Given the description of an element on the screen output the (x, y) to click on. 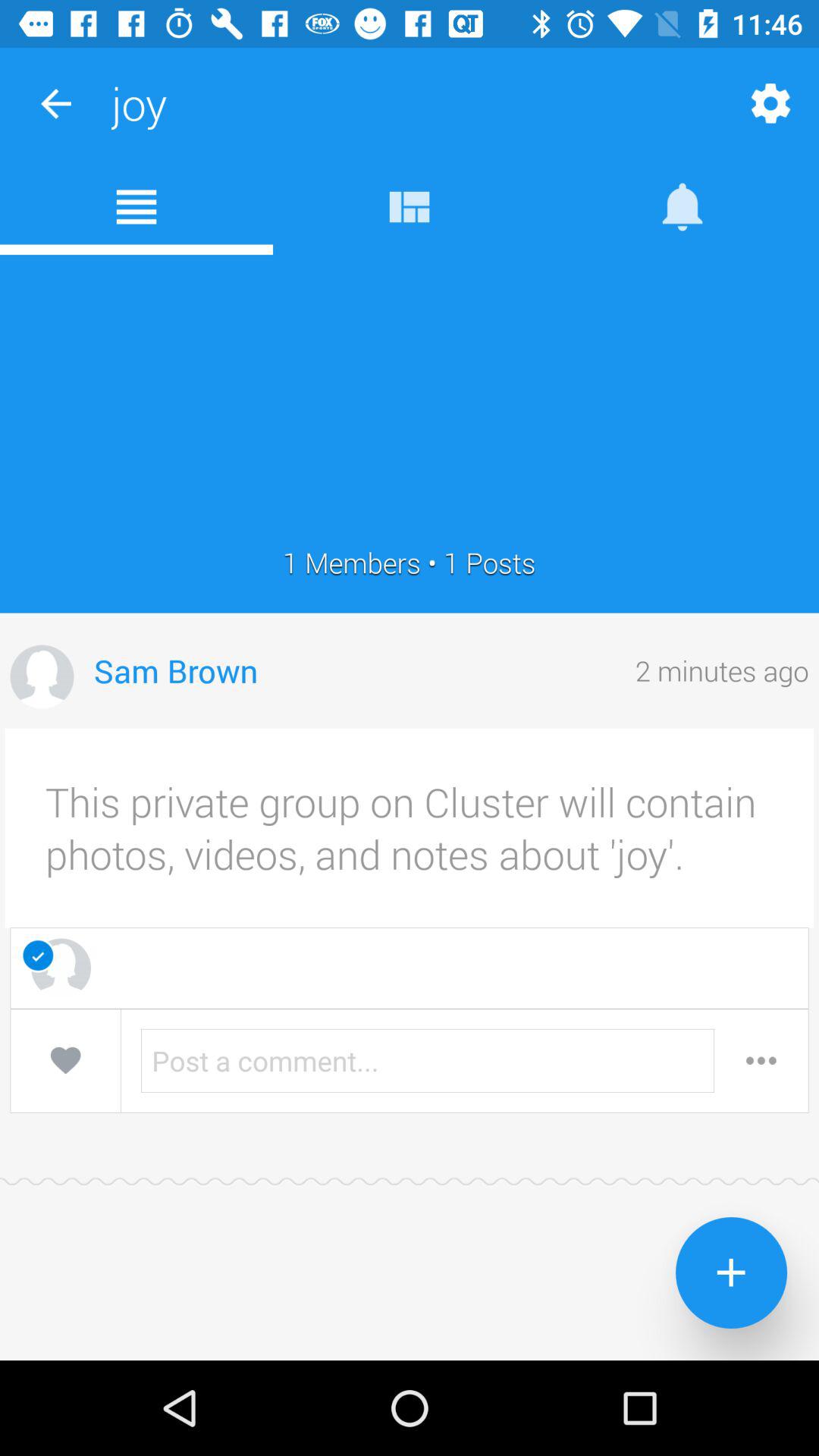
more (761, 1060)
